Given the description of an element on the screen output the (x, y) to click on. 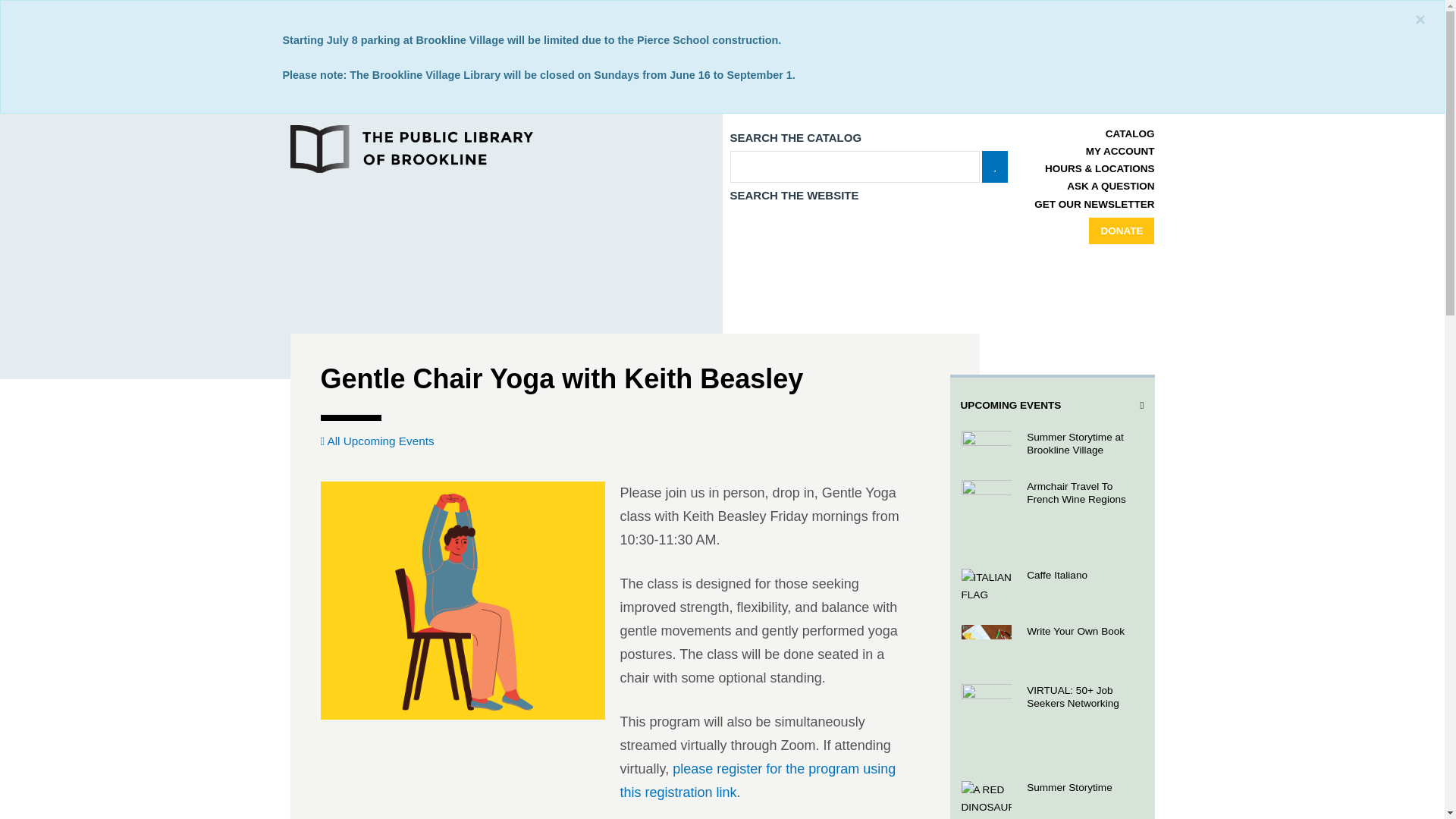
MY ACCOUNT (1120, 151)
All Upcoming Events (376, 440)
Summer Storytime (1051, 799)
DONATE (1121, 230)
Armchair Travel To French Wine Regions (1051, 513)
Summer Storytime at Brookline Village (1051, 444)
GET OUR NEWSLETTER (1093, 204)
CATALOG (1129, 133)
Caffe Italiano (1051, 586)
please register for the program using this registration link (758, 780)
ASK A QUESTION (1110, 185)
Write Your Own Book (1051, 643)
